Given the description of an element on the screen output the (x, y) to click on. 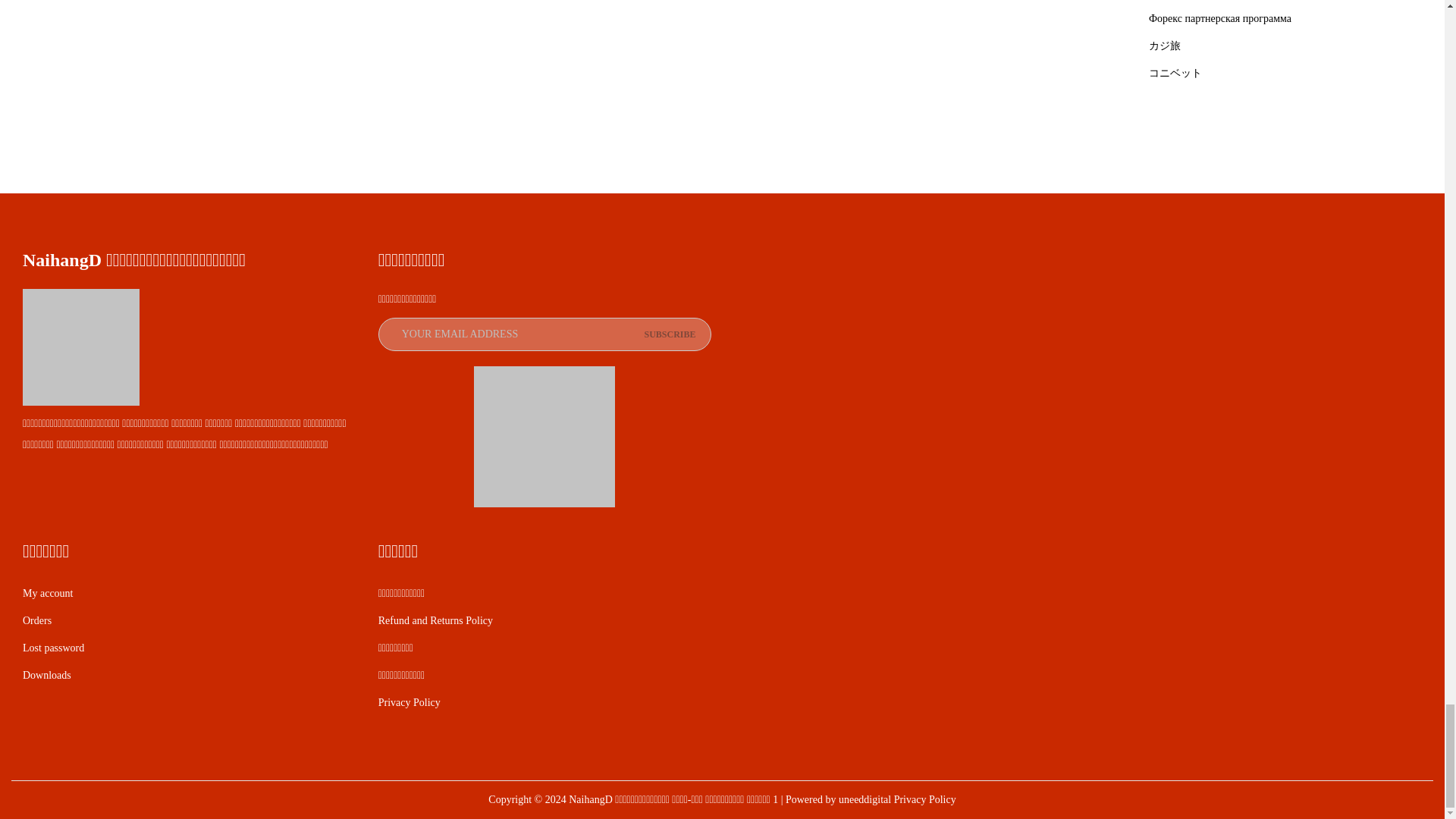
Subscribe (669, 334)
